Given the description of an element on the screen output the (x, y) to click on. 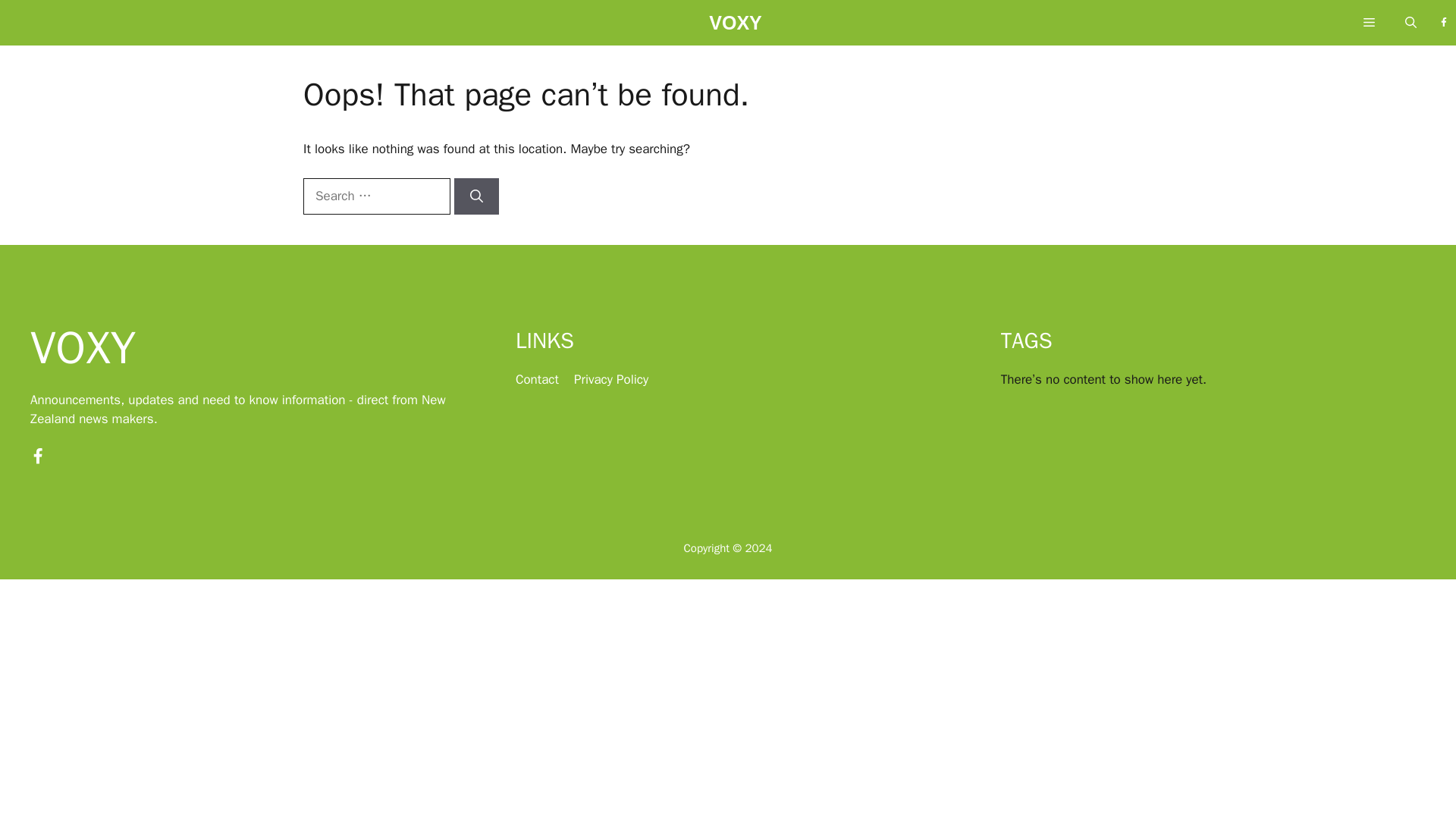
VOXY (735, 26)
Contact (537, 379)
Privacy Policy (610, 379)
Search for: (375, 196)
